Given the description of an element on the screen output the (x, y) to click on. 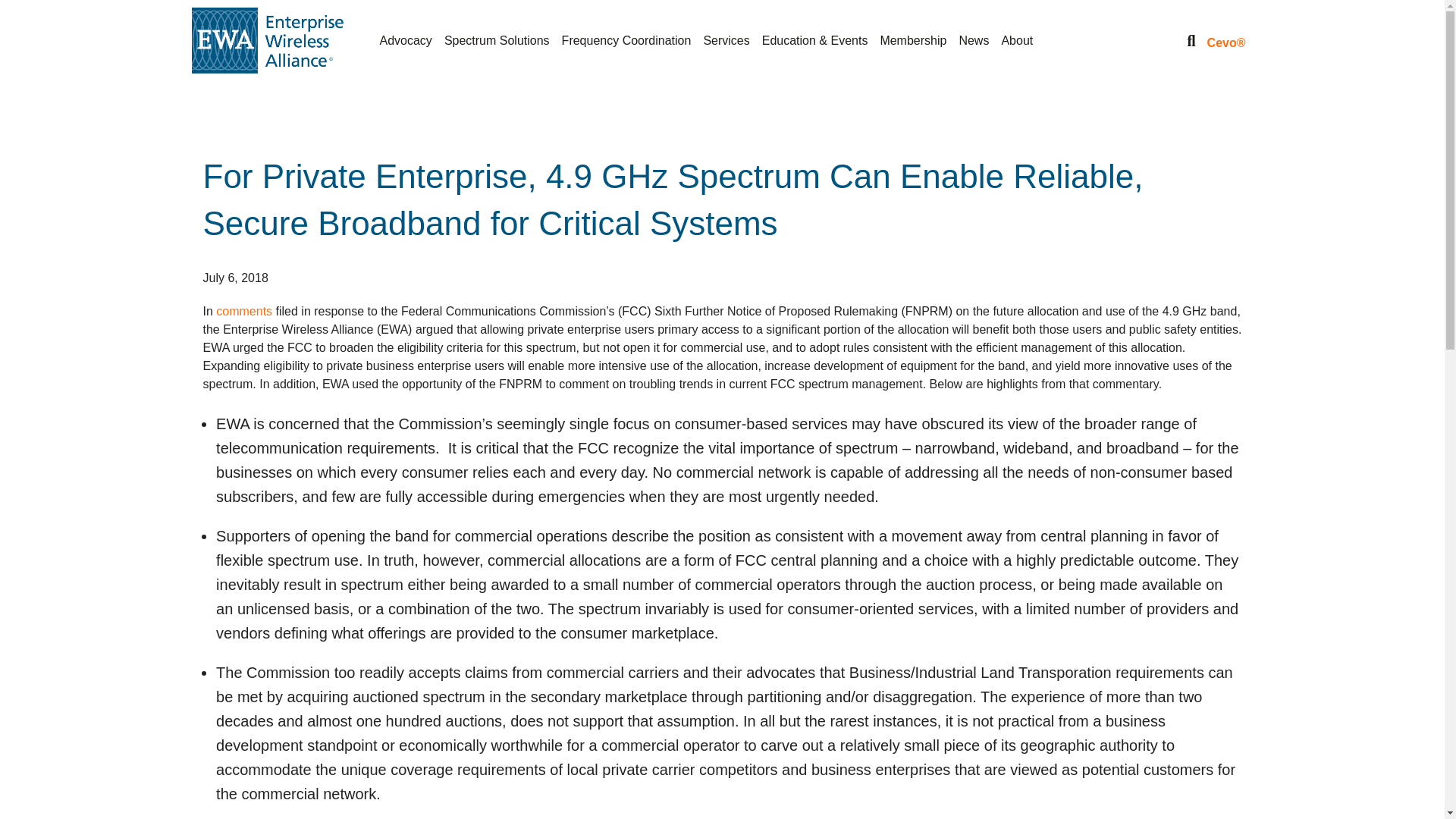
Advocacy (405, 40)
Spectrum Solutions (497, 40)
Membership (912, 40)
Services (726, 40)
Frequency Coordination (626, 40)
Home (266, 39)
